Given the description of an element on the screen output the (x, y) to click on. 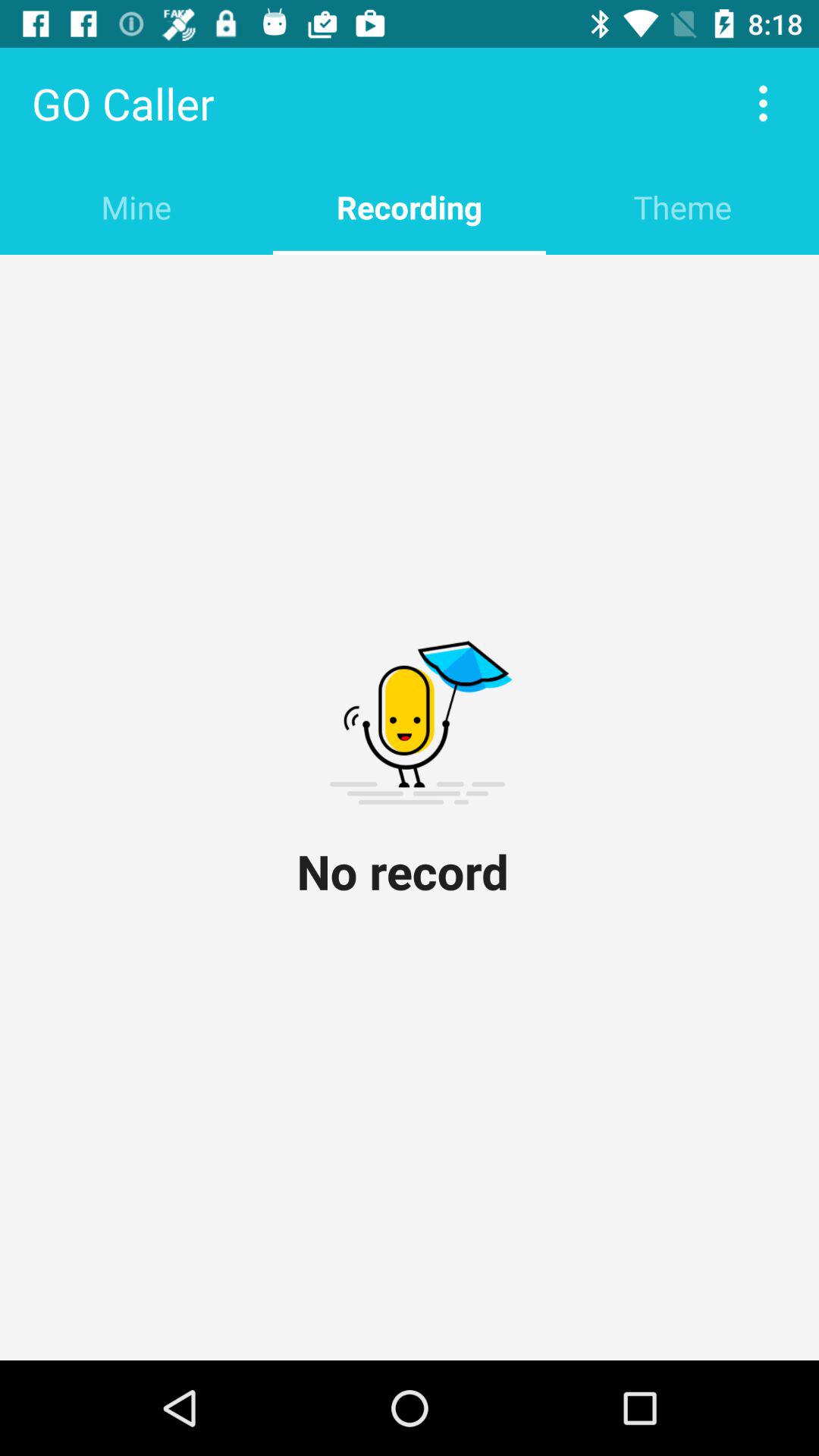
menu option (763, 103)
